Given the description of an element on the screen output the (x, y) to click on. 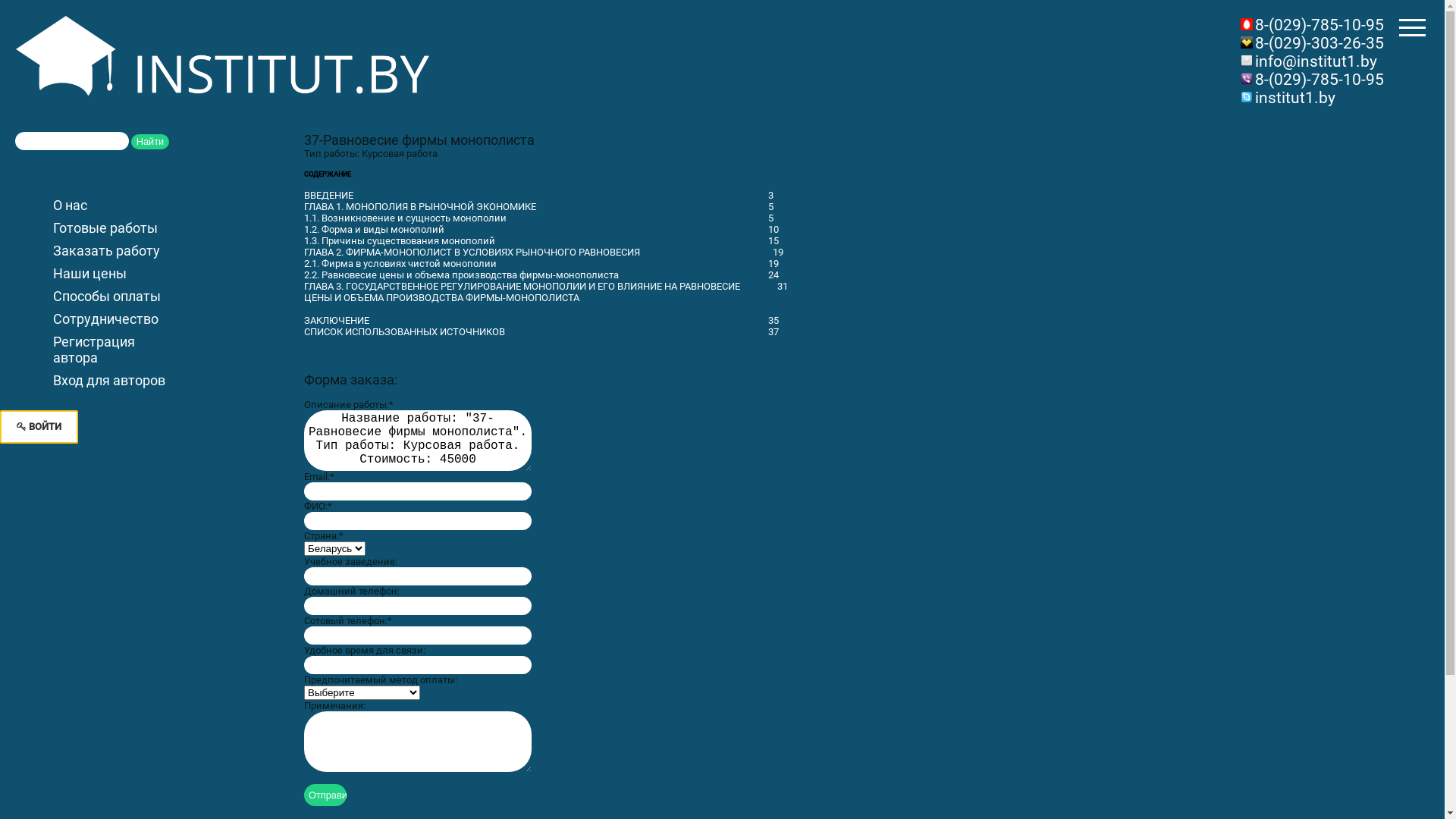
8-(029)-785-10-95 Element type: text (1319, 79)
institut1.by Element type: text (1295, 97)
8-(029)-303-26-35 Element type: text (1319, 43)
8-(029)-785-10-95 Element type: text (1319, 24)
info@institut1.by Element type: text (1316, 61)
